Given the description of an element on the screen output the (x, y) to click on. 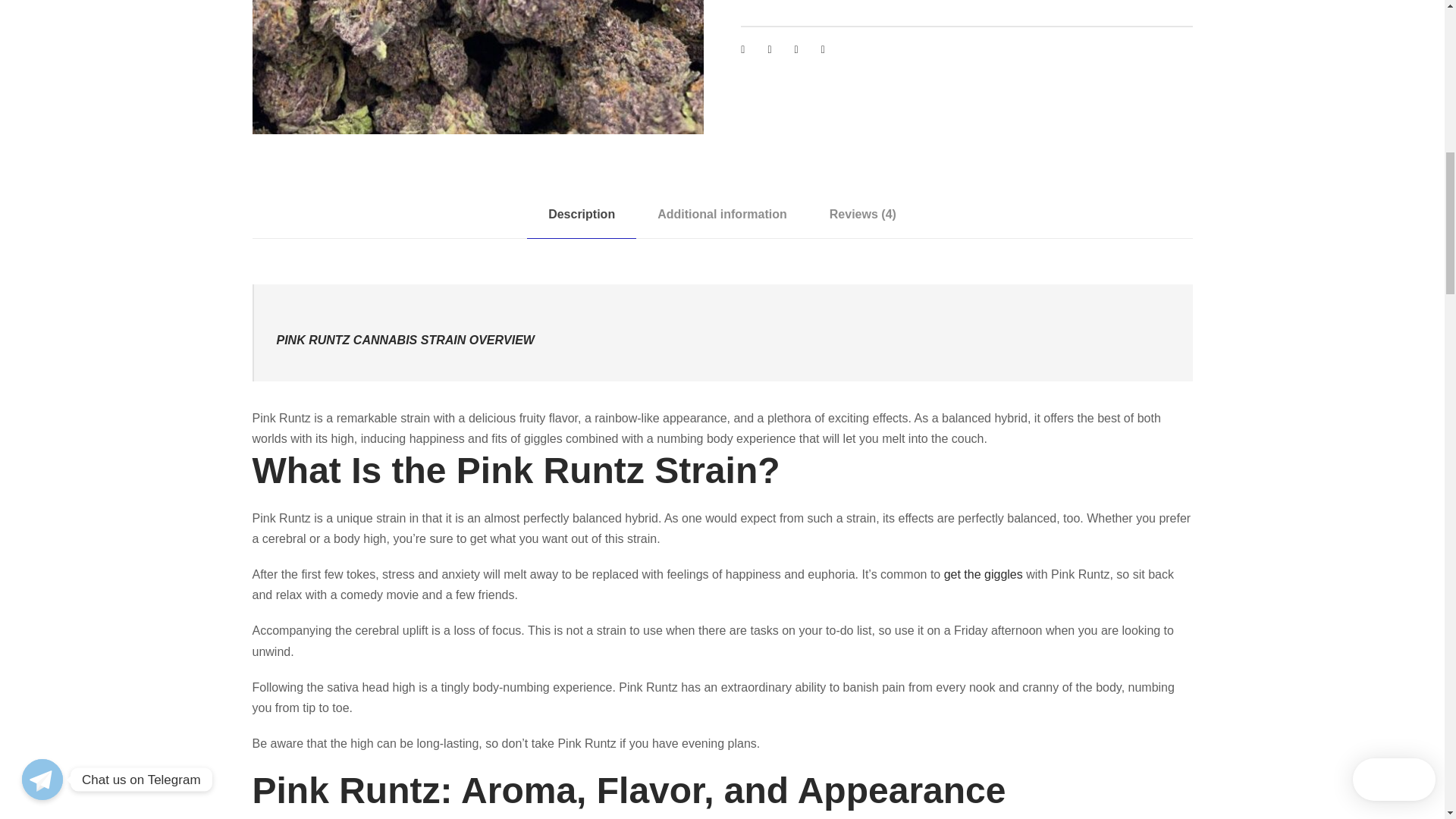
F73660CB-B8C2-4CDB-9D67-0E65D76B7524 (477, 67)
get the giggles (983, 574)
